Given the description of an element on the screen output the (x, y) to click on. 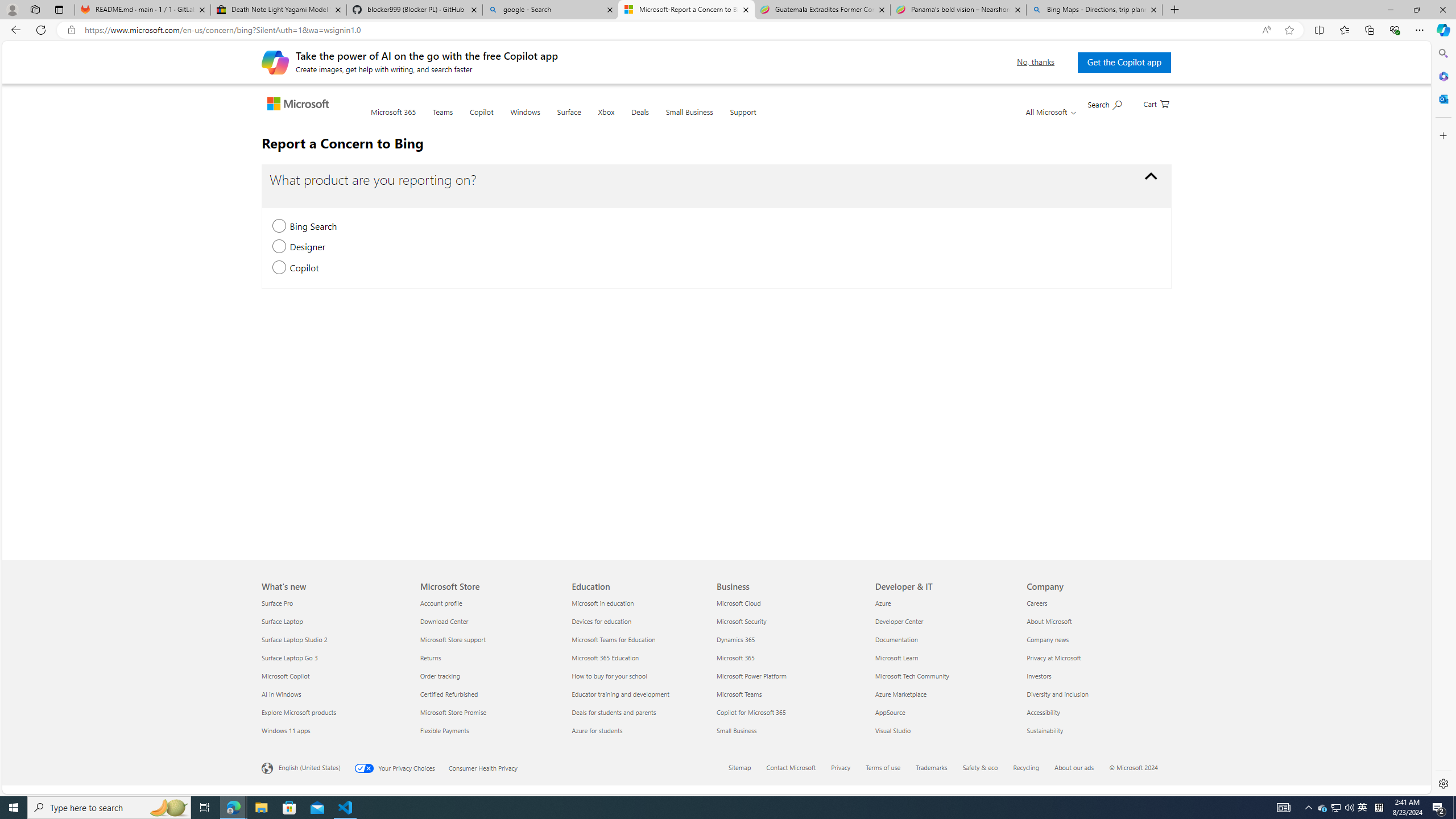
Flexible Payments (489, 730)
Deals (640, 118)
Terms of use (883, 766)
Deals (639, 118)
Designer, new section will be expanded (279, 246)
Microsoft 365 Business (735, 656)
Get the Copilot app  (1123, 61)
Surface Laptop (334, 620)
Surface (568, 118)
Documentation (944, 638)
